Given the description of an element on the screen output the (x, y) to click on. 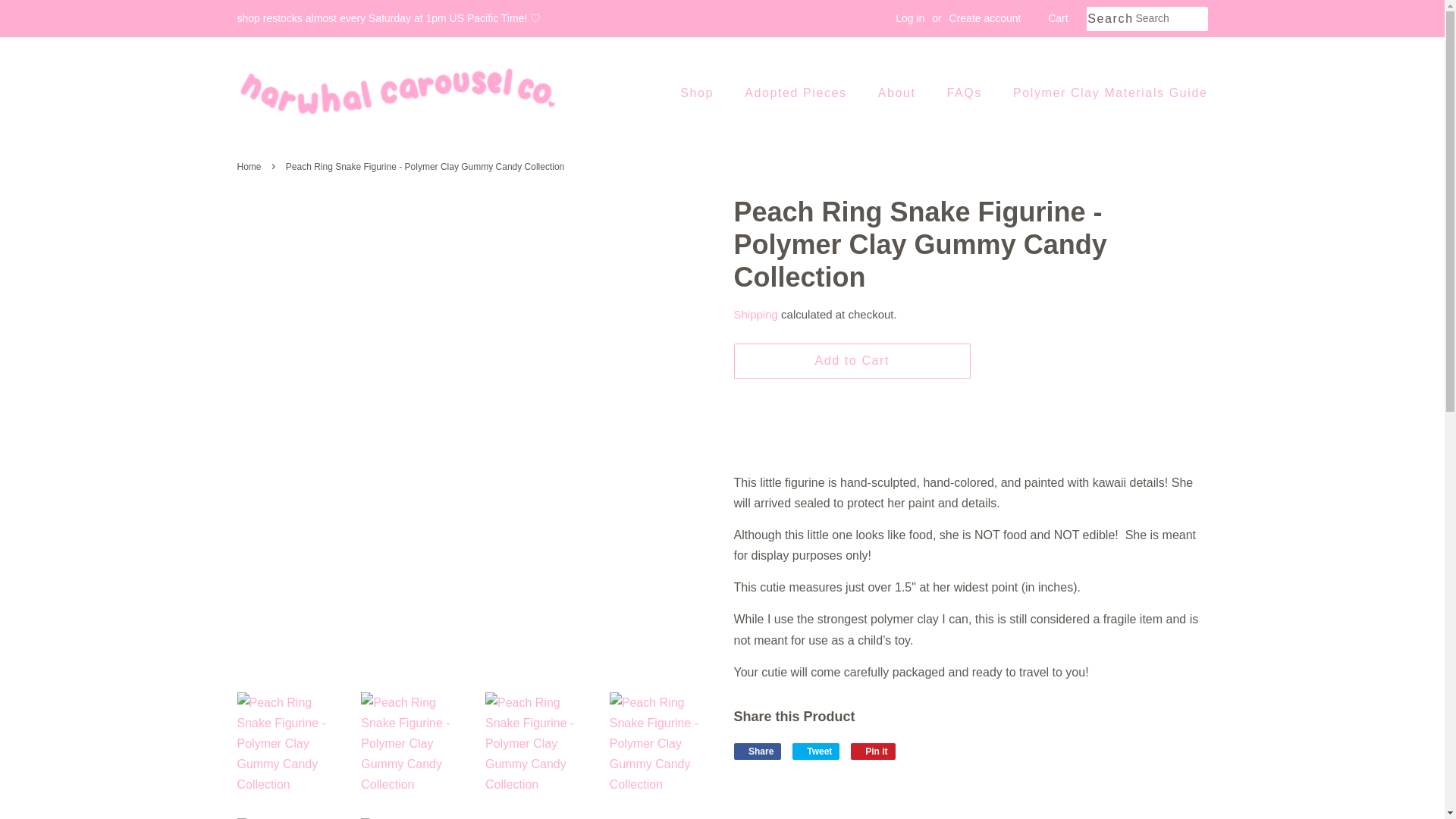
Search (1110, 18)
Log in (909, 18)
Cart (1057, 18)
Share on Facebook (757, 751)
Pin on Pinterest (872, 751)
Adopted Pieces (797, 92)
Tweet on Twitter (816, 751)
FAQs (966, 92)
Create account (985, 18)
Polymer Clay Materials Guide (1104, 92)
